Given the description of an element on the screen output the (x, y) to click on. 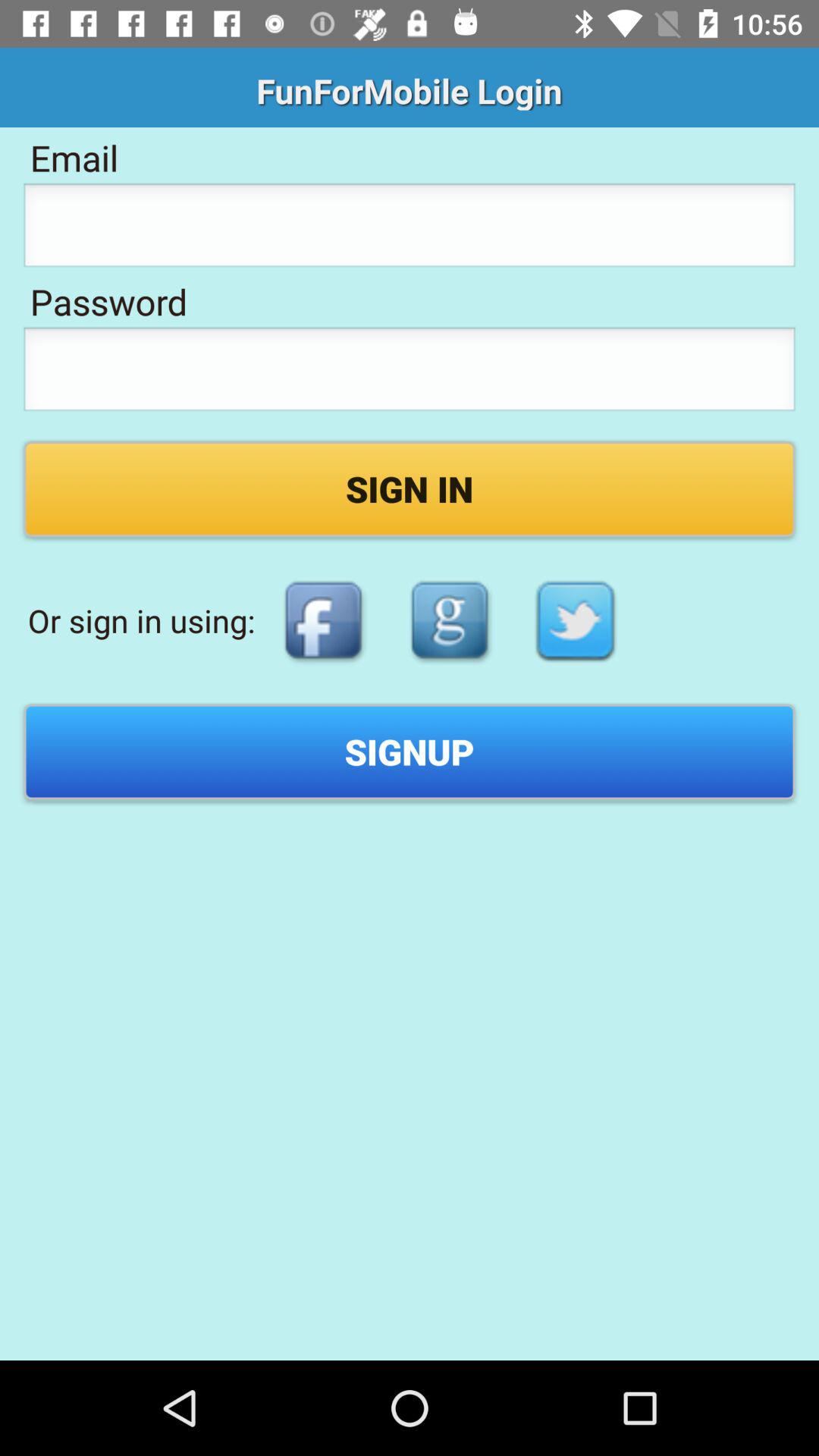
turn off the item above the signup item (576, 620)
